Given the description of an element on the screen output the (x, y) to click on. 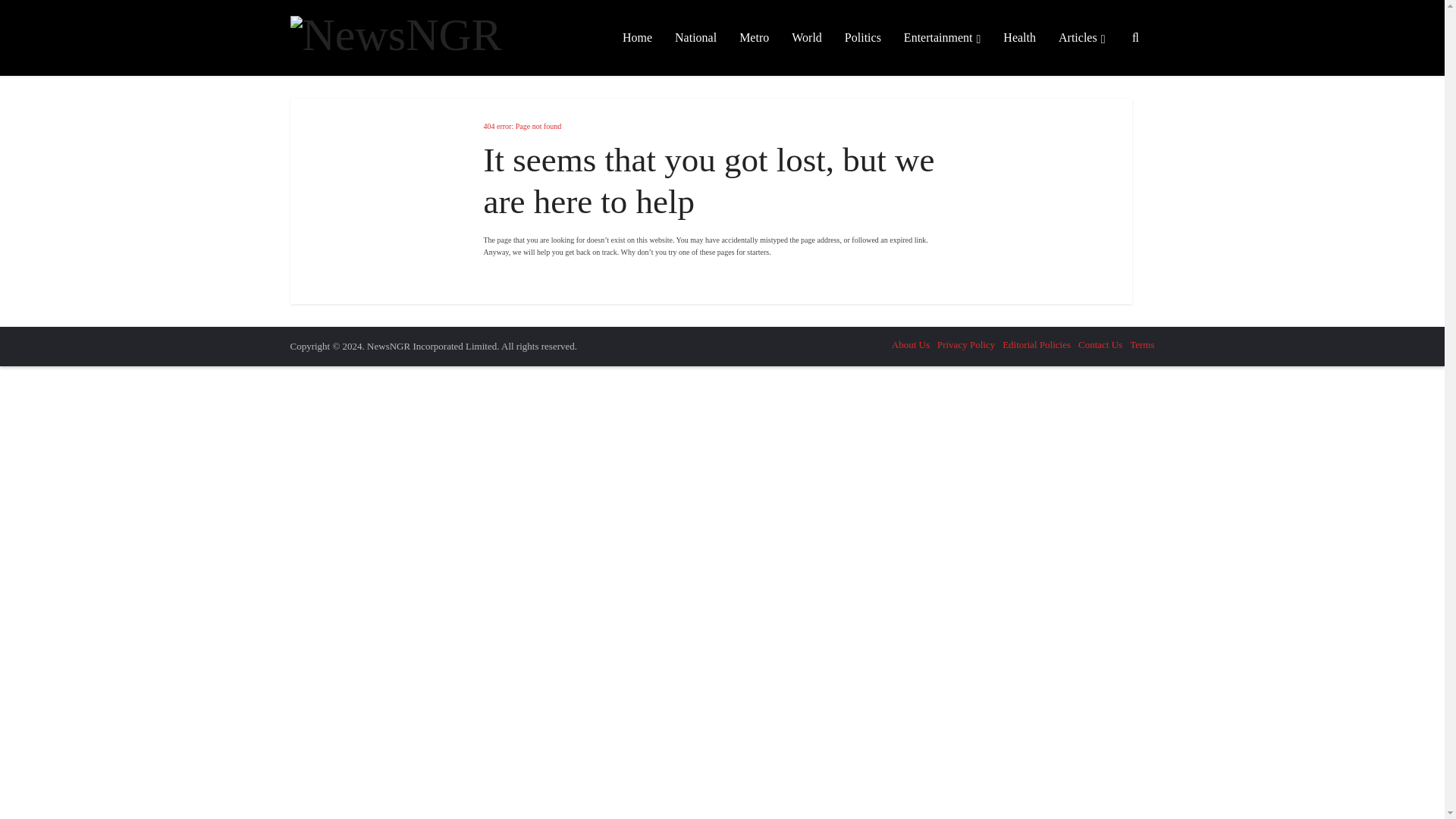
Articles (1081, 38)
About Us (910, 344)
Entertainment (941, 38)
Editorial Policies (1036, 344)
Privacy Policy (965, 344)
Contact Us (1100, 344)
